Given the description of an element on the screen output the (x, y) to click on. 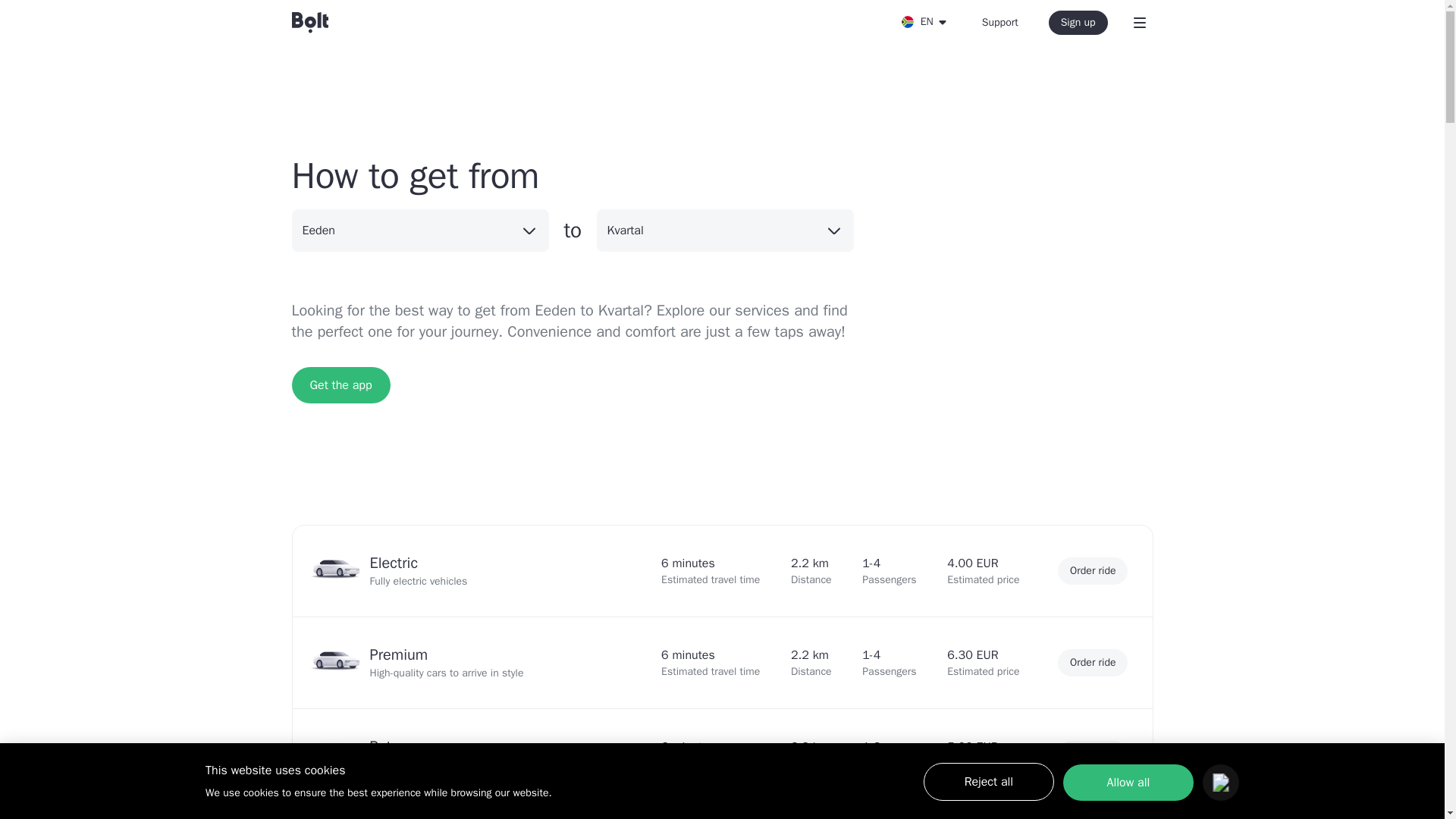
Sign up (1078, 22)
Allow all (1127, 782)
Support (999, 22)
za (907, 21)
Reject all (988, 781)
